Given the description of an element on the screen output the (x, y) to click on. 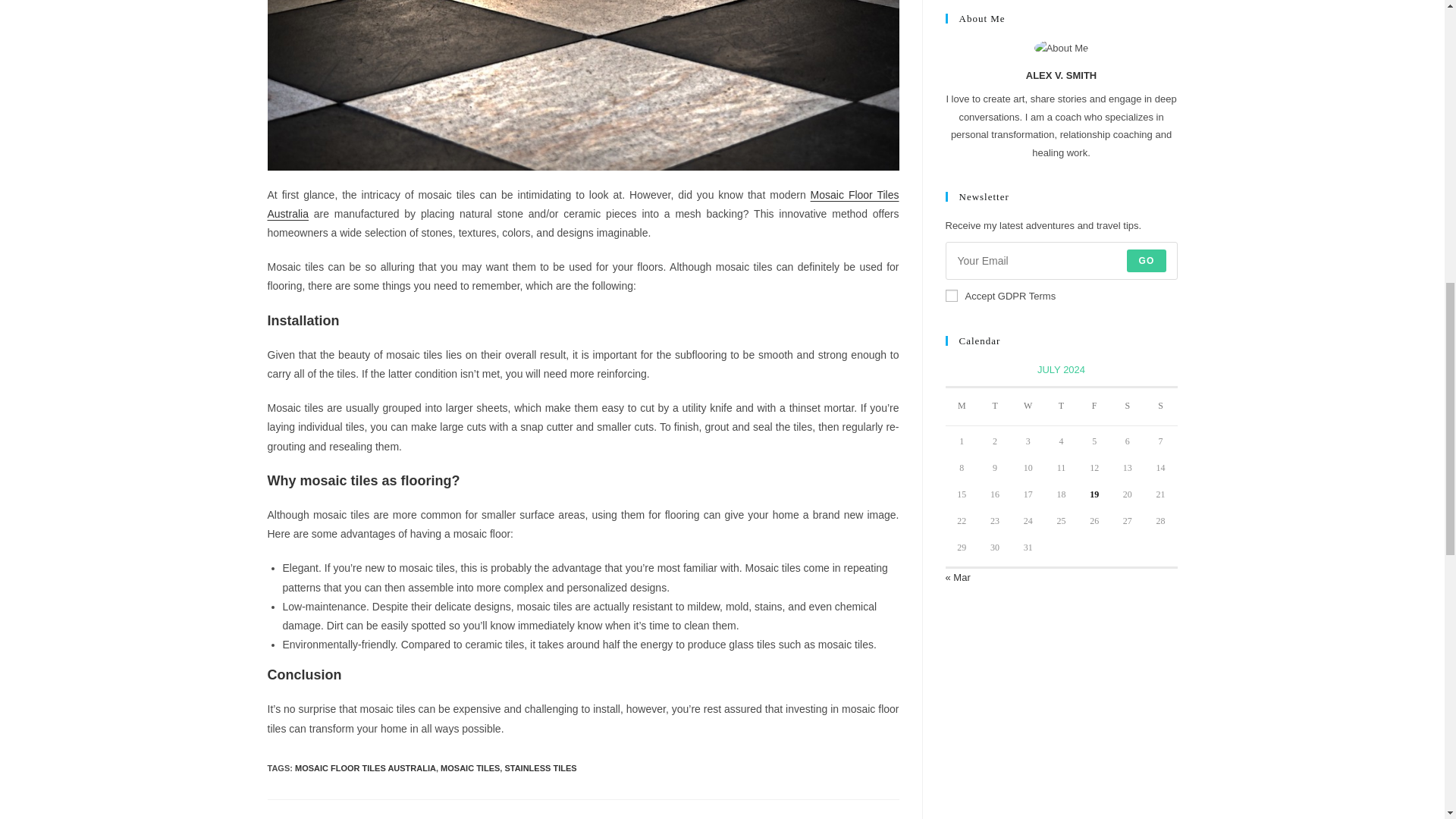
1 (950, 295)
Thursday (1061, 406)
Wednesday (1028, 406)
STAINLESS TILES (539, 768)
Monday (961, 406)
MOSAIC TILES (470, 768)
Friday (1093, 406)
Mosaic Floor Tiles Australia (582, 204)
MOSAIC FLOOR TILES AUSTRALIA (365, 768)
Tuesday (994, 406)
Sunday (1160, 406)
Saturday (1127, 406)
